Given the description of an element on the screen output the (x, y) to click on. 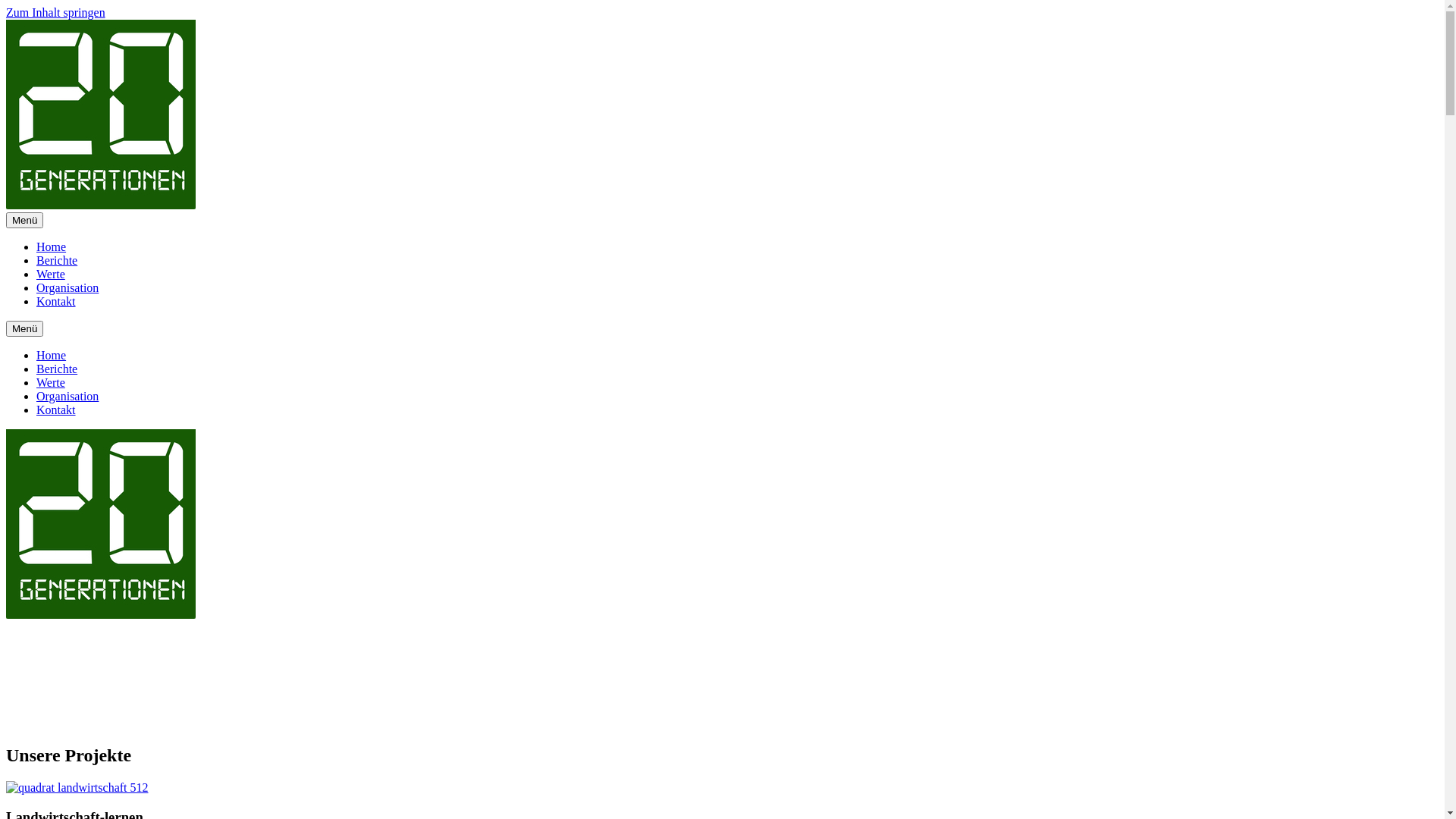
Werte Element type: text (50, 273)
Organisation Element type: text (67, 395)
Zum Inhalt springen Element type: text (55, 12)
Organisation Element type: text (67, 287)
Home Element type: text (50, 354)
Kontakt Element type: text (55, 300)
Home Element type: text (50, 246)
Kontakt Element type: text (55, 409)
quadrat landwirtschaft 512 Element type: hover (77, 787)
Werte Element type: text (50, 382)
Berichte Element type: text (56, 368)
Berichte Element type: text (56, 260)
